Given the description of an element on the screen output the (x, y) to click on. 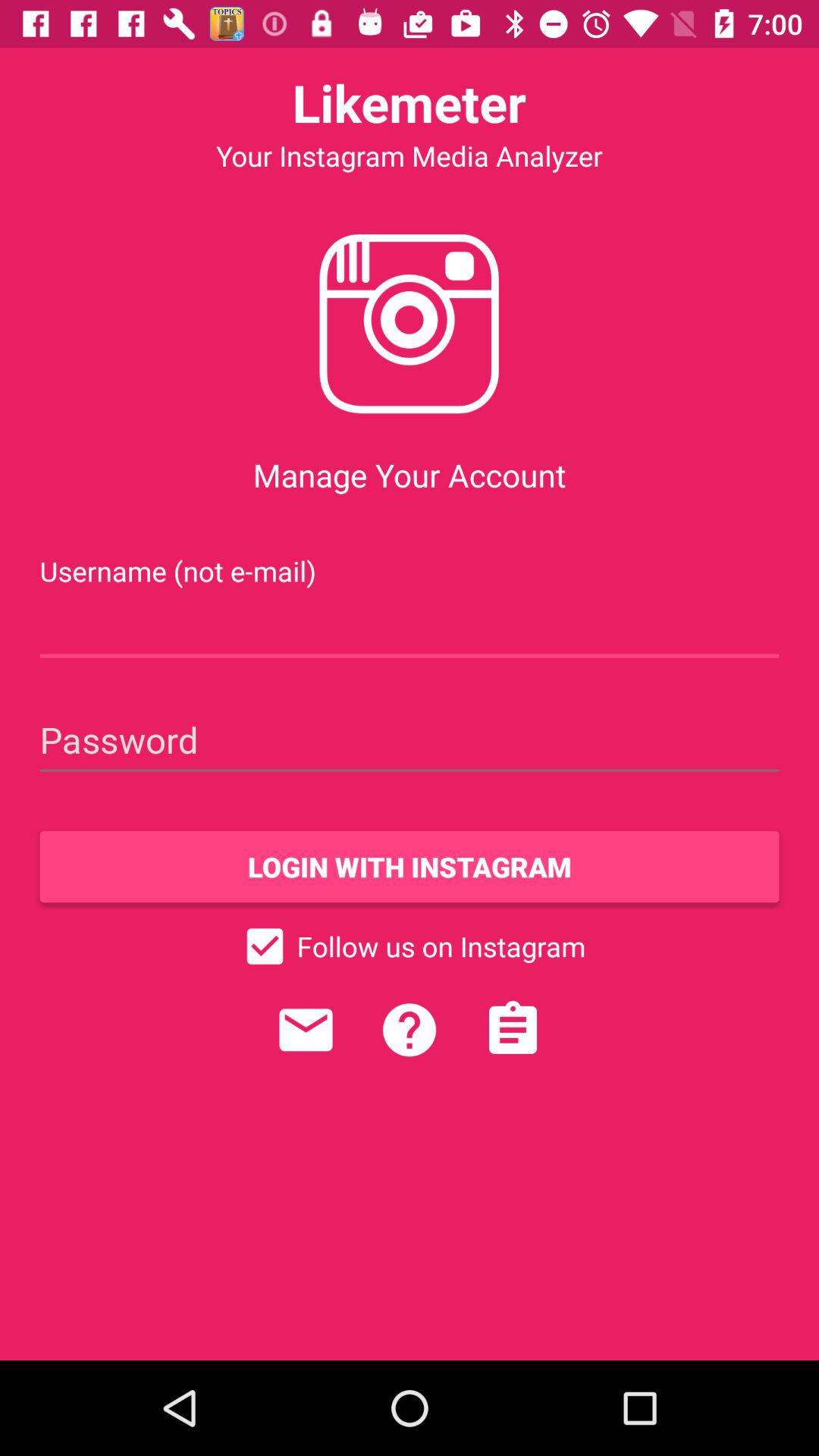
open icon below follow us on (512, 1029)
